Given the description of an element on the screen output the (x, y) to click on. 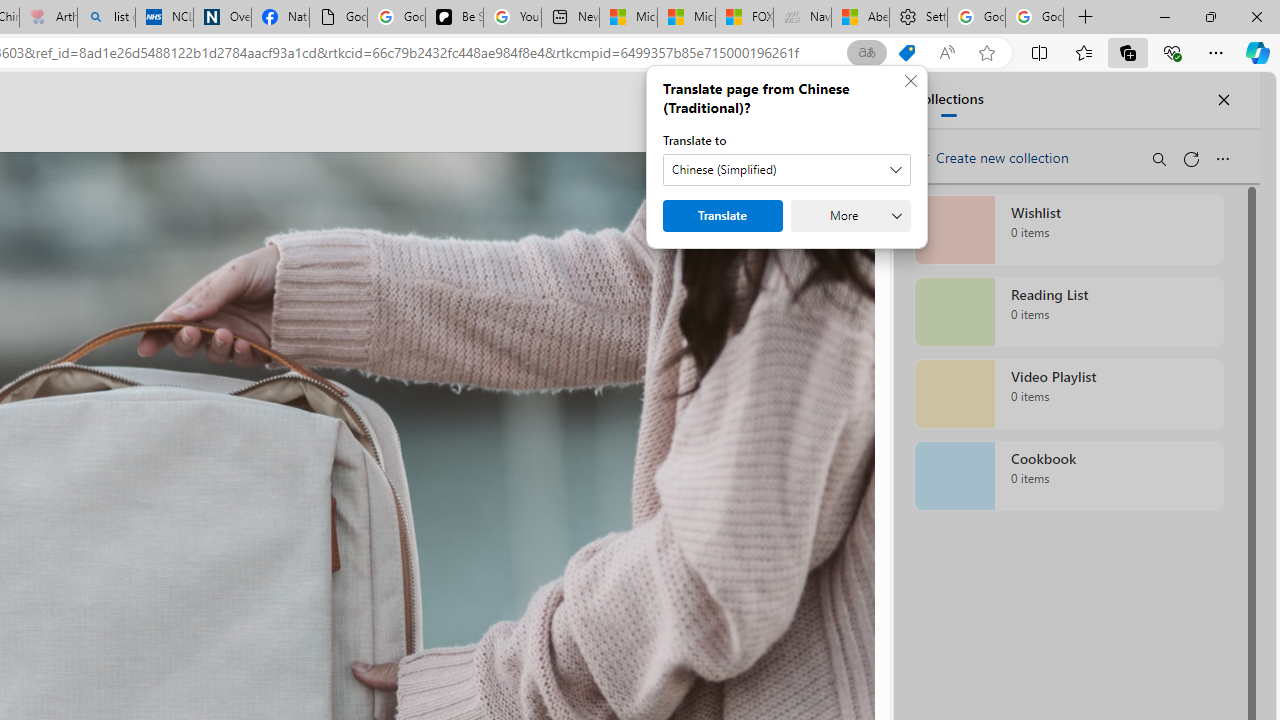
Google Analytics Opt-out Browser Add-on Download Page (338, 17)
